Given the description of an element on the screen output the (x, y) to click on. 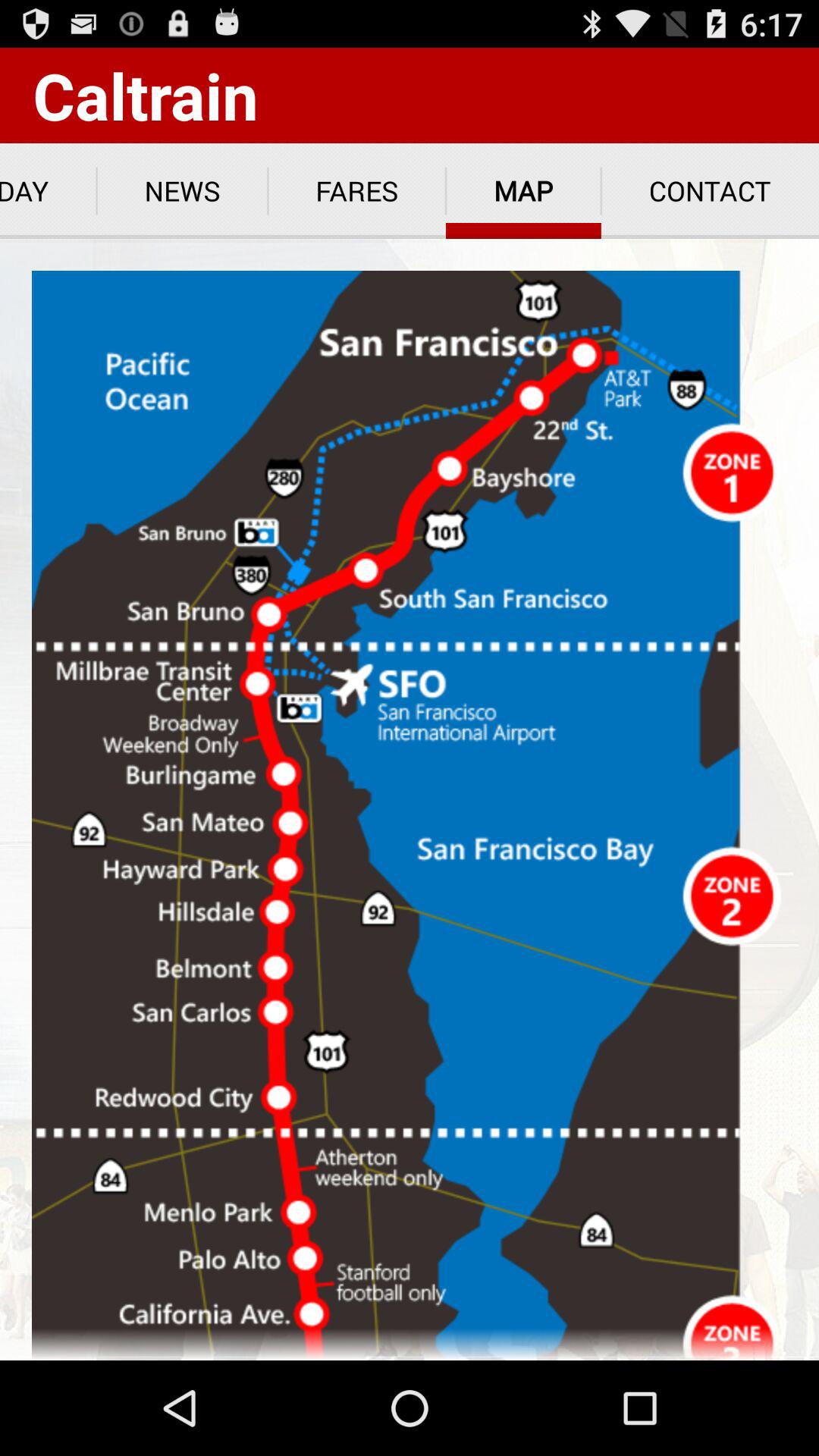
turn off app below caltrain icon (181, 190)
